Given the description of an element on the screen output the (x, y) to click on. 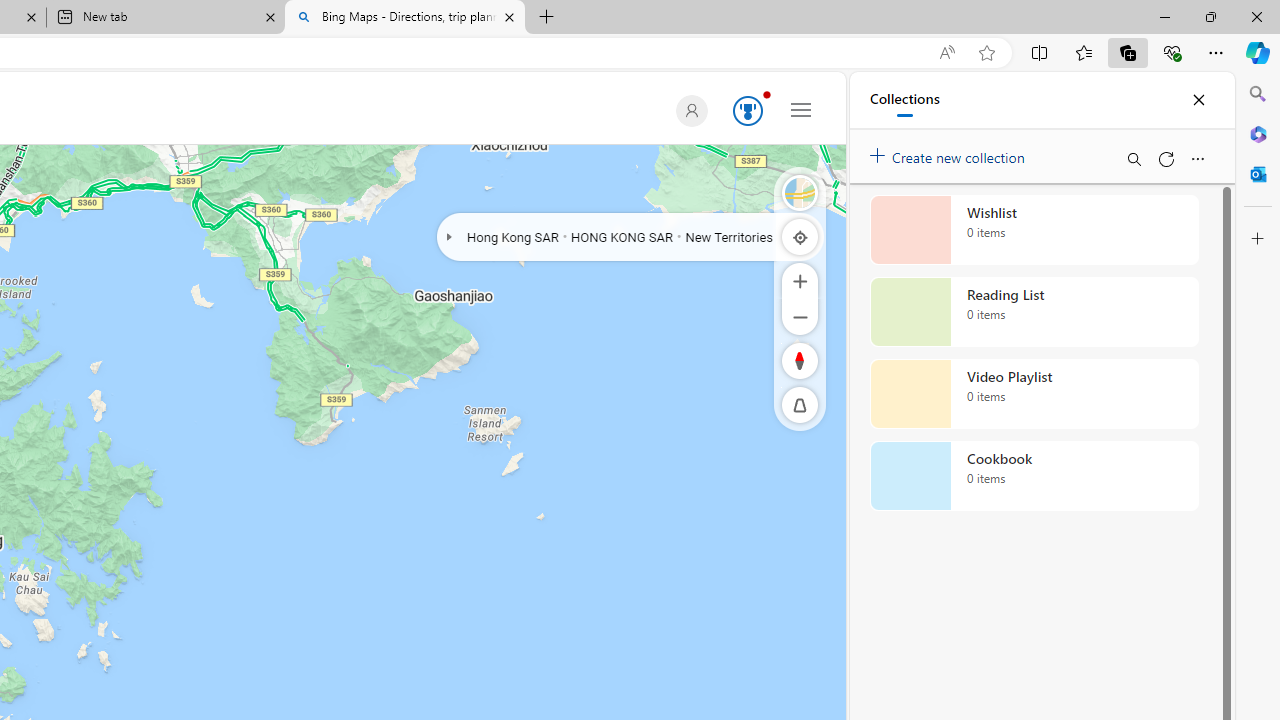
Default Profile Picture (687, 110)
Expand/Collapse Geochain (448, 236)
Default Profile Picture (691, 110)
Animation (766, 94)
Reset to Default Rotation (799, 360)
More options menu (1197, 158)
Settings and quick links (801, 109)
Select Style (799, 192)
